Given the description of an element on the screen output the (x, y) to click on. 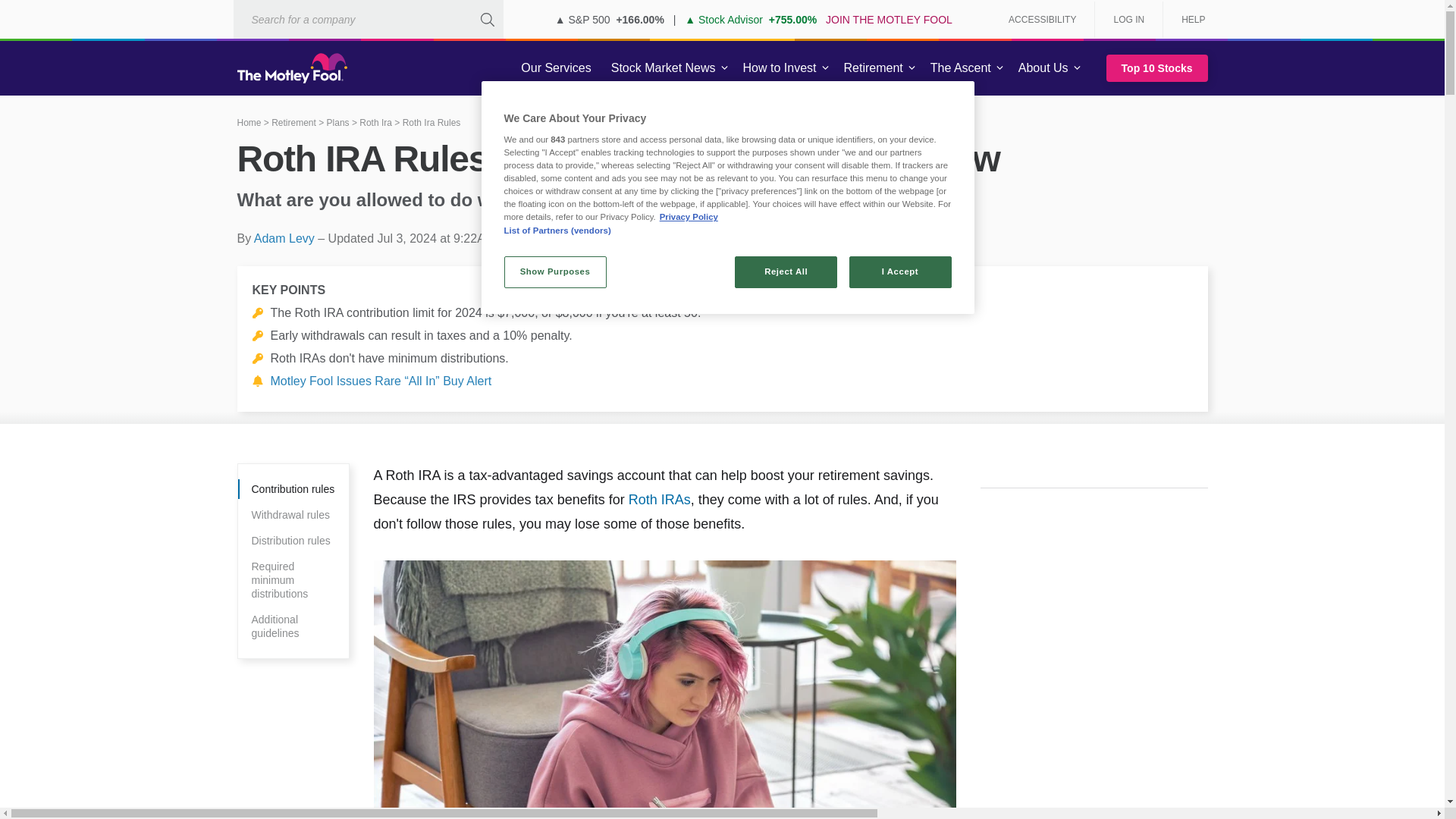
Additional guidelines (293, 625)
ACCESSIBILITY (1042, 19)
HELP (1187, 19)
Distribution rules (293, 540)
Stock Market News (662, 67)
Contribution rules (293, 488)
Required minimum distributions (293, 579)
LOG IN (1128, 19)
Withdrawal rules (293, 514)
Our Services (555, 67)
